Given the description of an element on the screen output the (x, y) to click on. 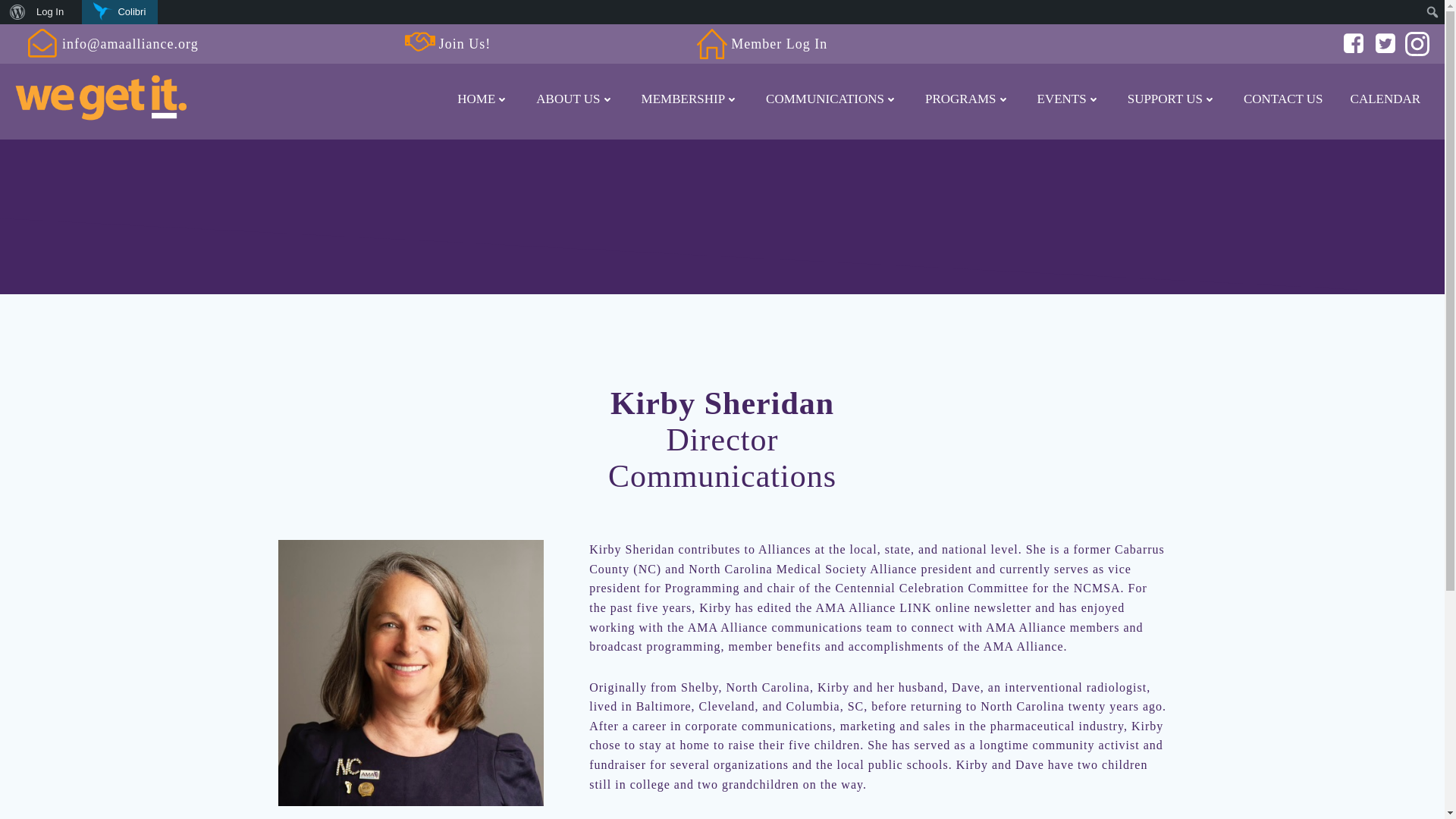
HOME (482, 98)
Join Us! (440, 43)
MEMBERSHIP (690, 98)
Colibri (119, 12)
ABOUT US (573, 98)
Member Log In (753, 43)
COMMUNICATIONS (831, 98)
Search (16, 13)
PROGRAMS (967, 98)
Log In (49, 12)
